Given the description of an element on the screen output the (x, y) to click on. 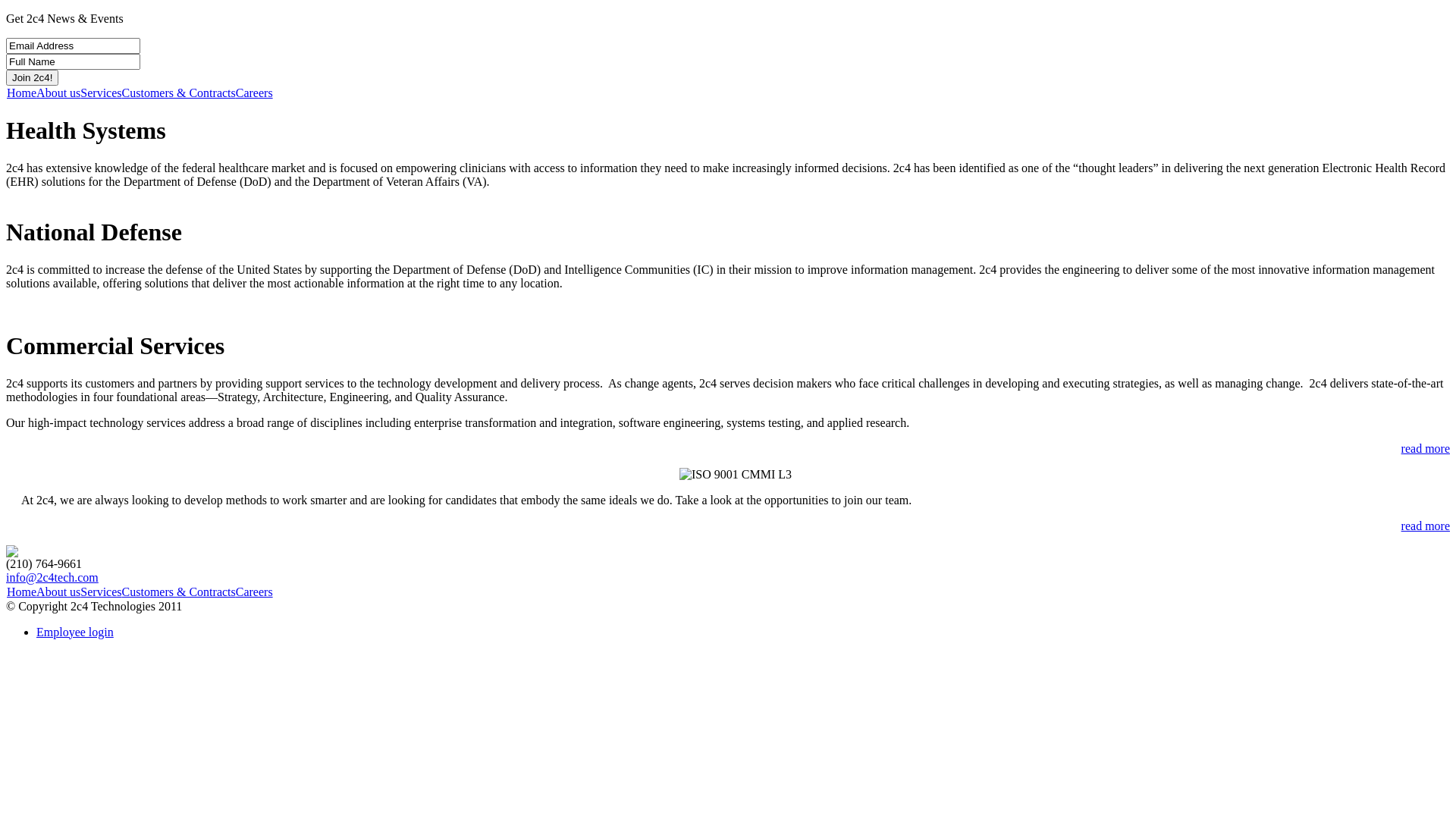
Email Address * Element type: hover (73, 45)
Full Name Element type: hover (73, 61)
info@2c4tech.com Element type: text (52, 577)
read more Element type: text (1425, 525)
read more Element type: text (1425, 448)
Customers & Contracts Element type: text (178, 591)
Careers Element type: text (254, 92)
Home Element type: text (21, 591)
Services Element type: text (100, 591)
Employee login Element type: text (74, 631)
Customers & Contracts Element type: text (178, 92)
Careers Element type: text (254, 591)
Services Element type: text (100, 92)
Home Element type: text (21, 92)
About us Element type: text (58, 92)
About us Element type: text (58, 591)
